Given the description of an element on the screen output the (x, y) to click on. 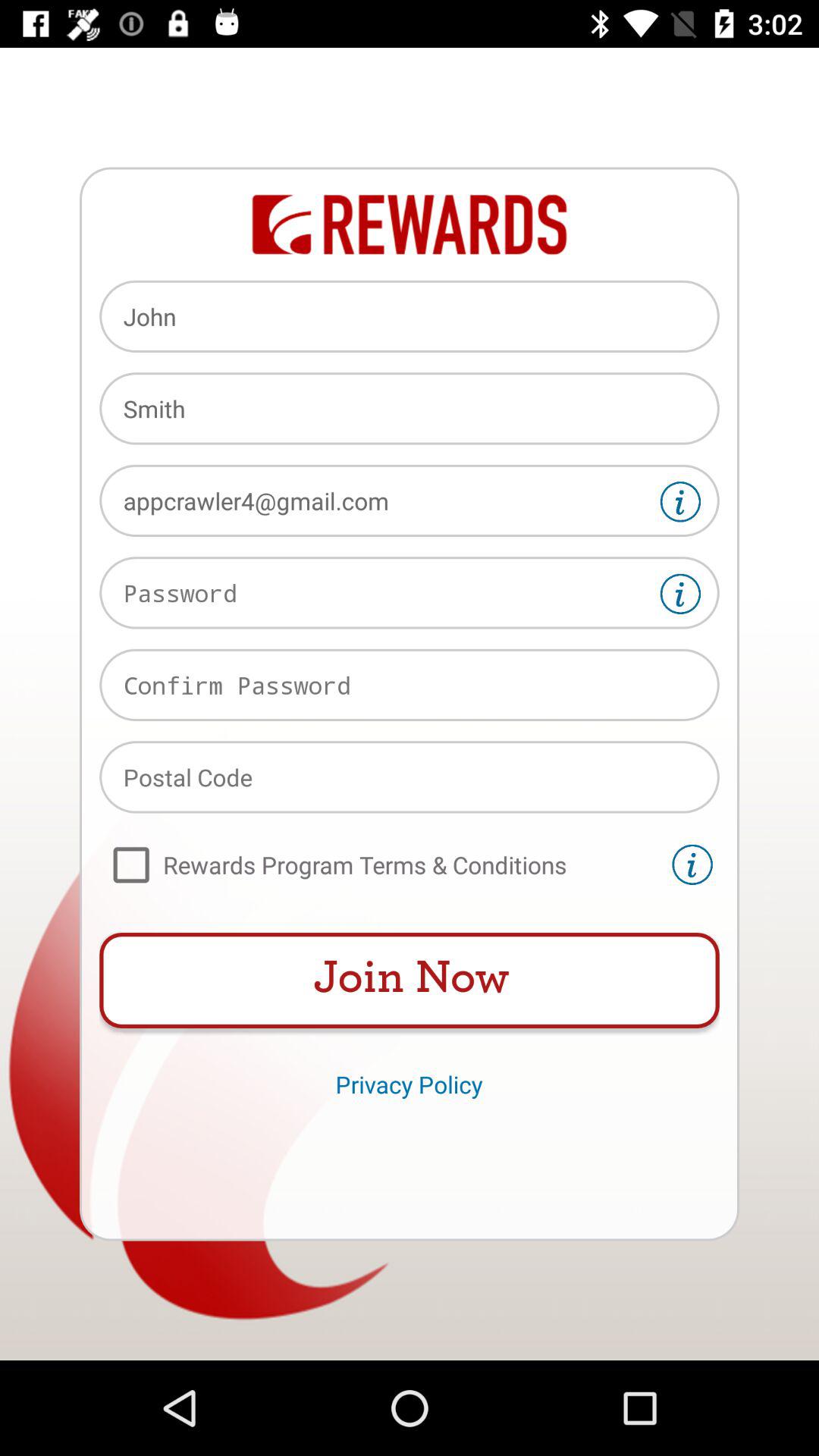
turn on the item above appcrawler4@gmail.com (409, 408)
